Given the description of an element on the screen output the (x, y) to click on. 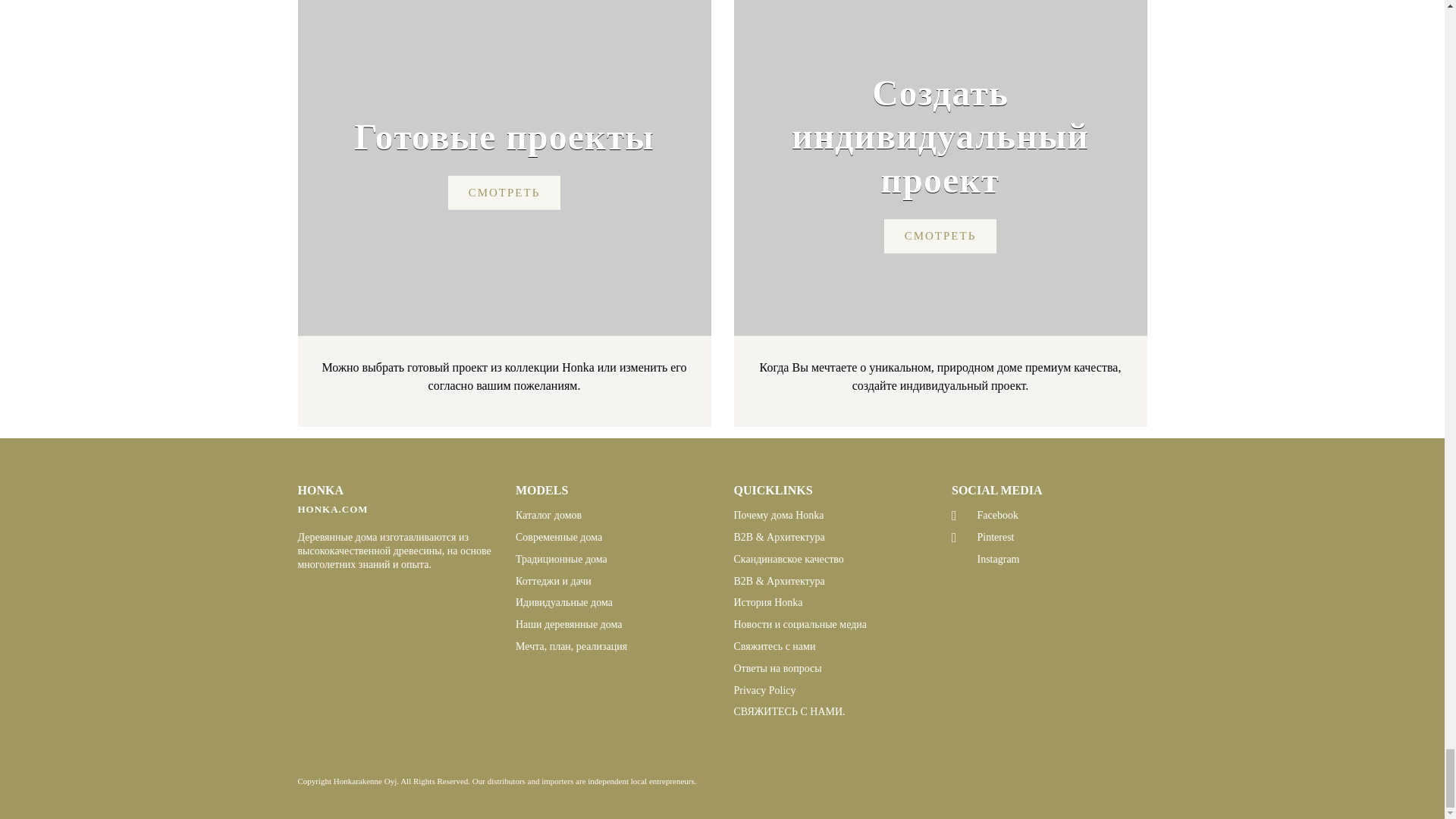
Pinterest (963, 537)
Instagram (963, 557)
Facebook (963, 515)
